Given the description of an element on the screen output the (x, y) to click on. 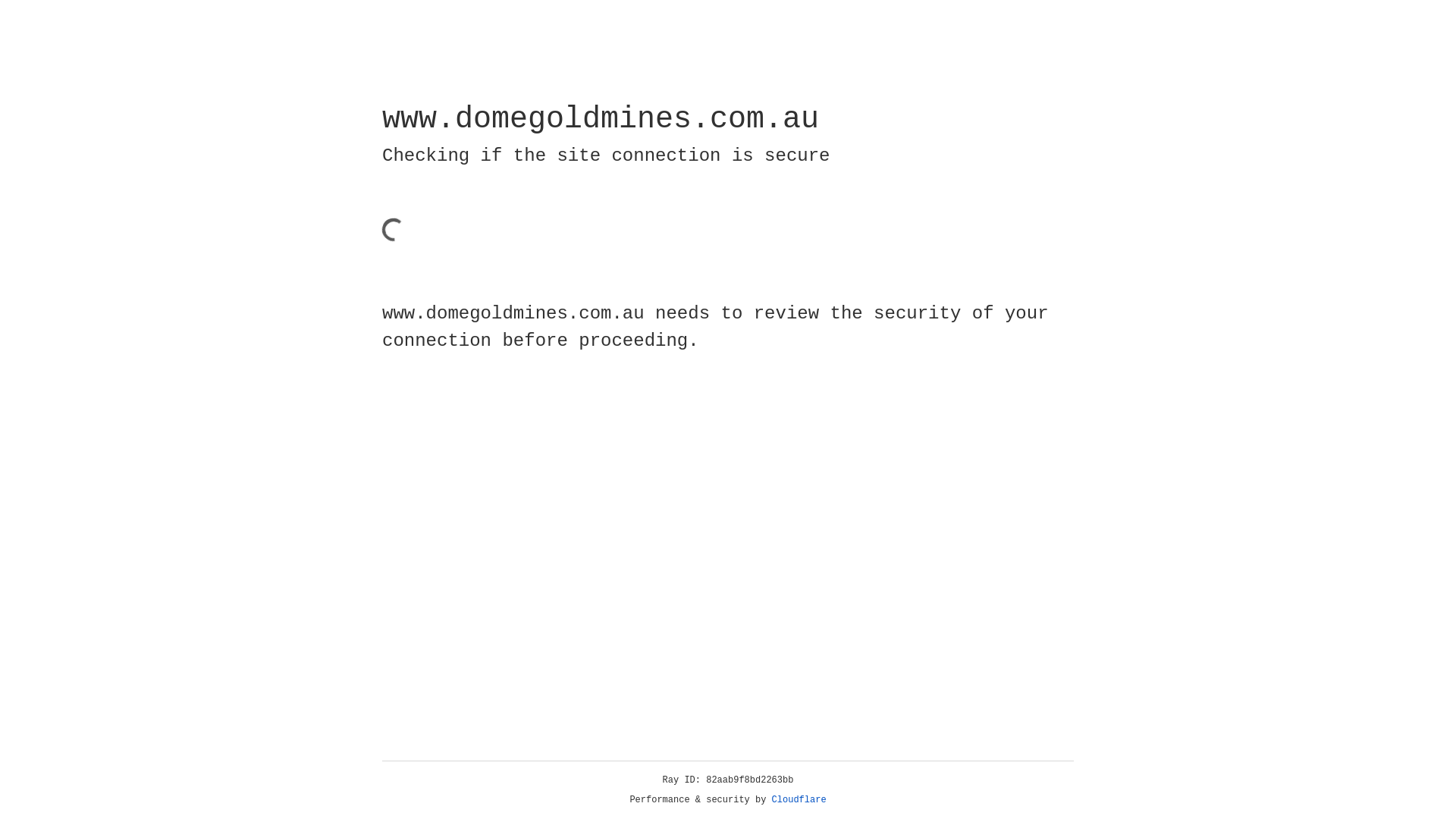
Cloudflare Element type: text (798, 799)
